Given the description of an element on the screen output the (x, y) to click on. 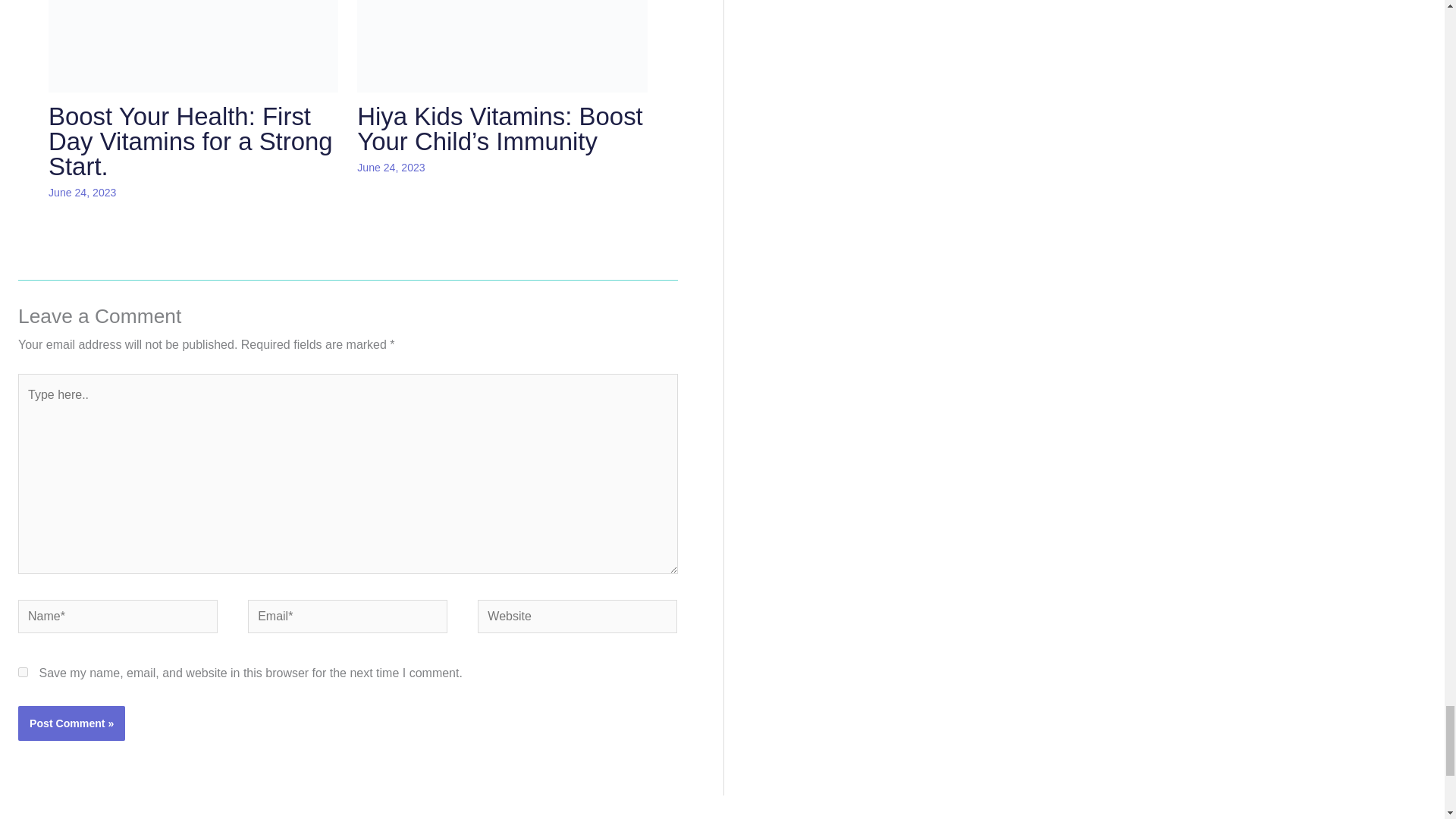
yes (22, 672)
